Given the description of an element on the screen output the (x, y) to click on. 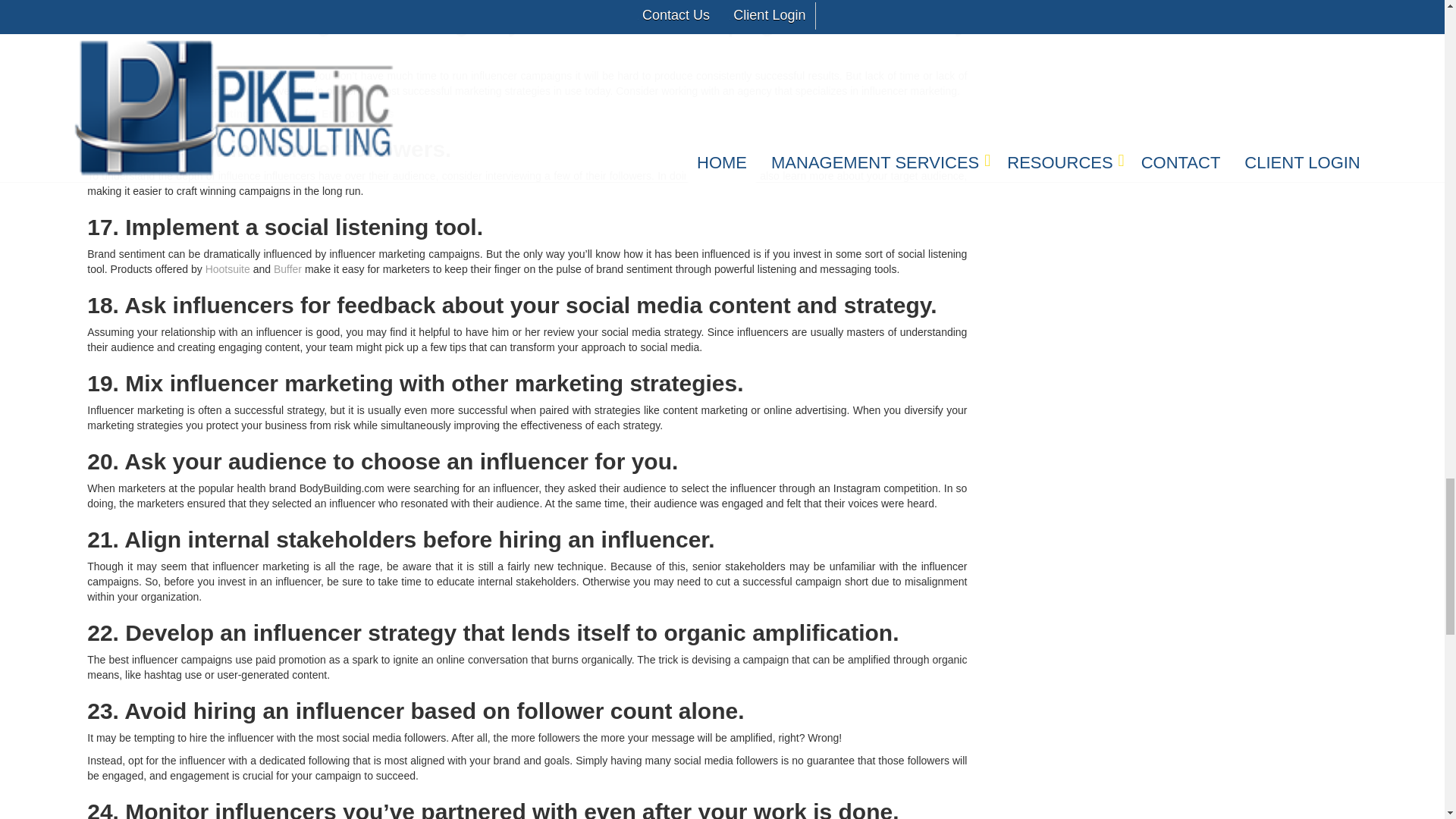
How Affiliate Marketing Can Work for Entrepreneurs (262, 113)
Hootsuite (227, 268)
Buffer (287, 268)
